Given the description of an element on the screen output the (x, y) to click on. 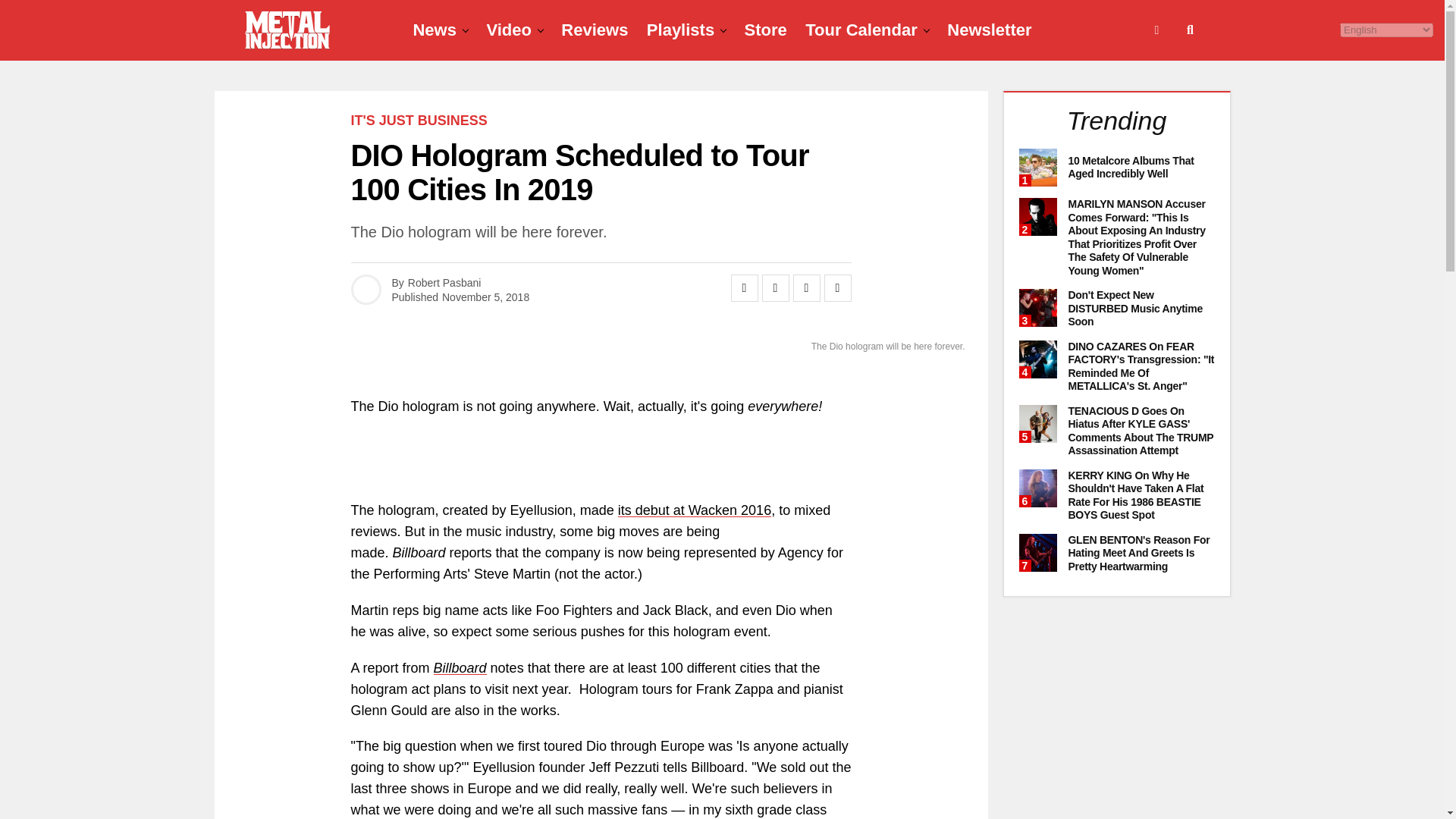
Share on Facebook (744, 288)
Share on Flipboard (807, 288)
Tweet This Post (775, 288)
